Given the description of an element on the screen output the (x, y) to click on. 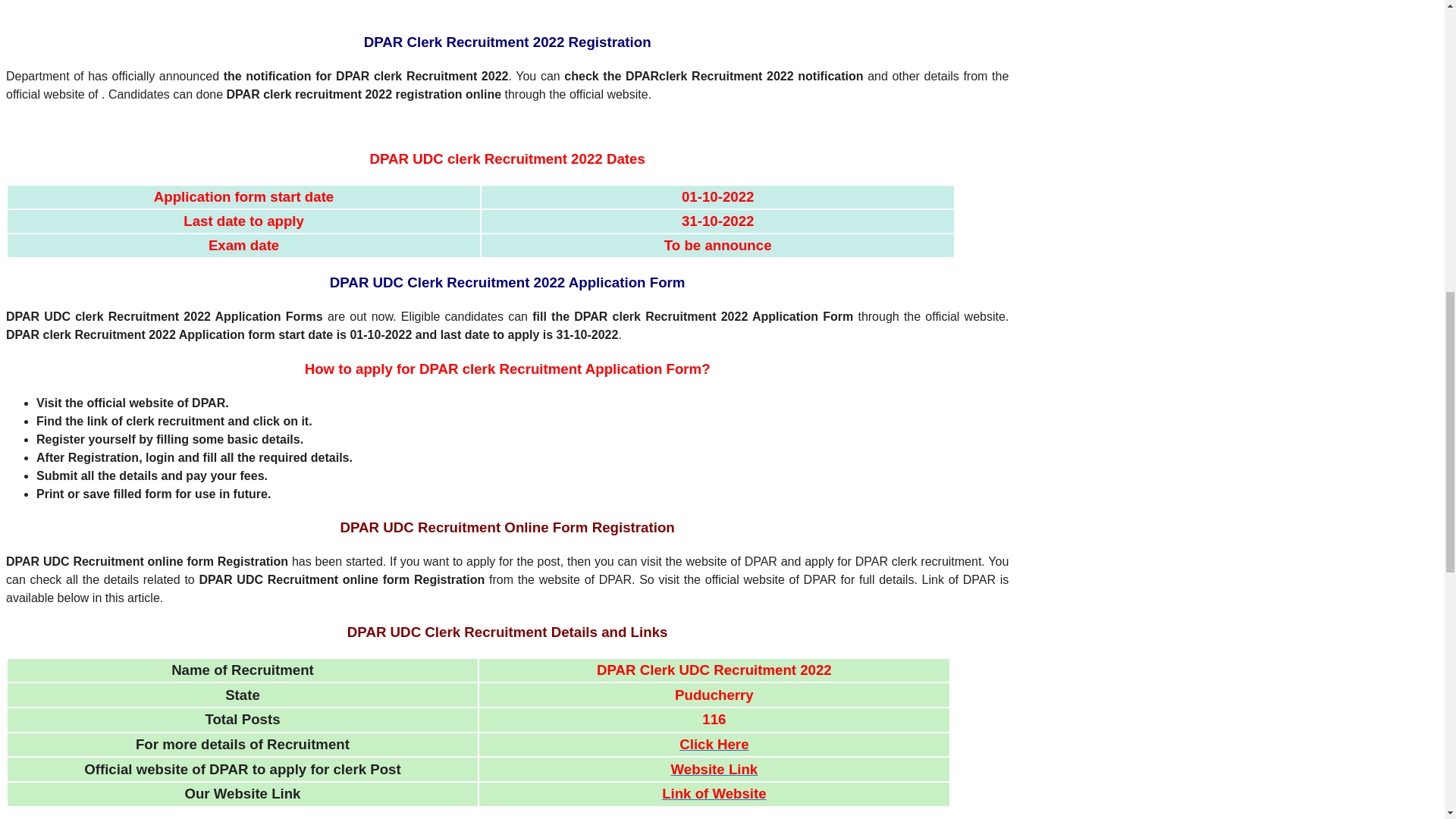
Click Here (713, 744)
Website Link (714, 769)
Scroll back to top (1406, 720)
Link of Website (714, 793)
